Given the description of an element on the screen output the (x, y) to click on. 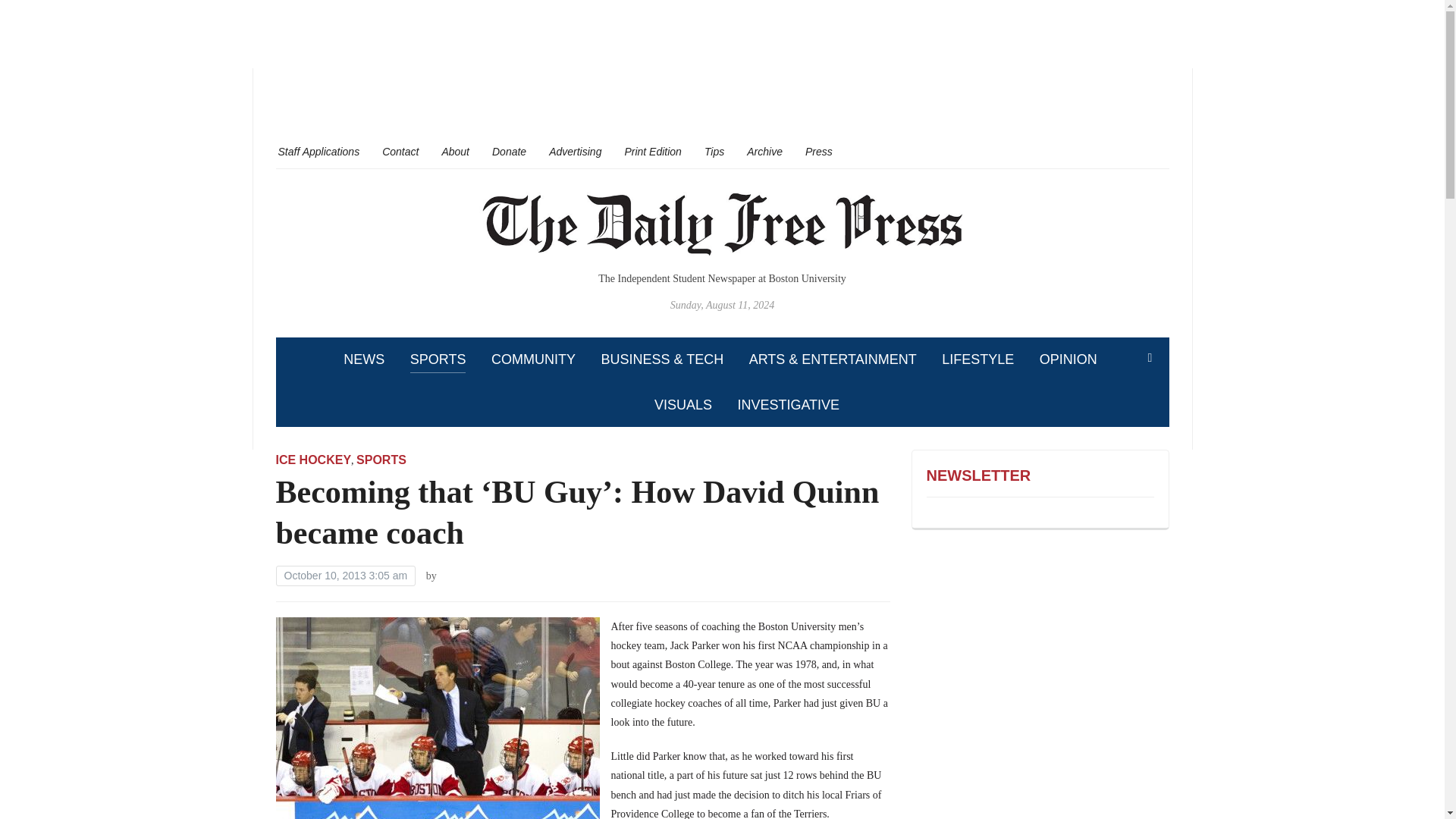
Staff Applications (318, 150)
Print Edition (652, 150)
Advertising (574, 150)
Search (1149, 358)
Contact (400, 150)
About (454, 150)
Archive (764, 150)
Donate (508, 150)
Press (818, 150)
